Given the description of an element on the screen output the (x, y) to click on. 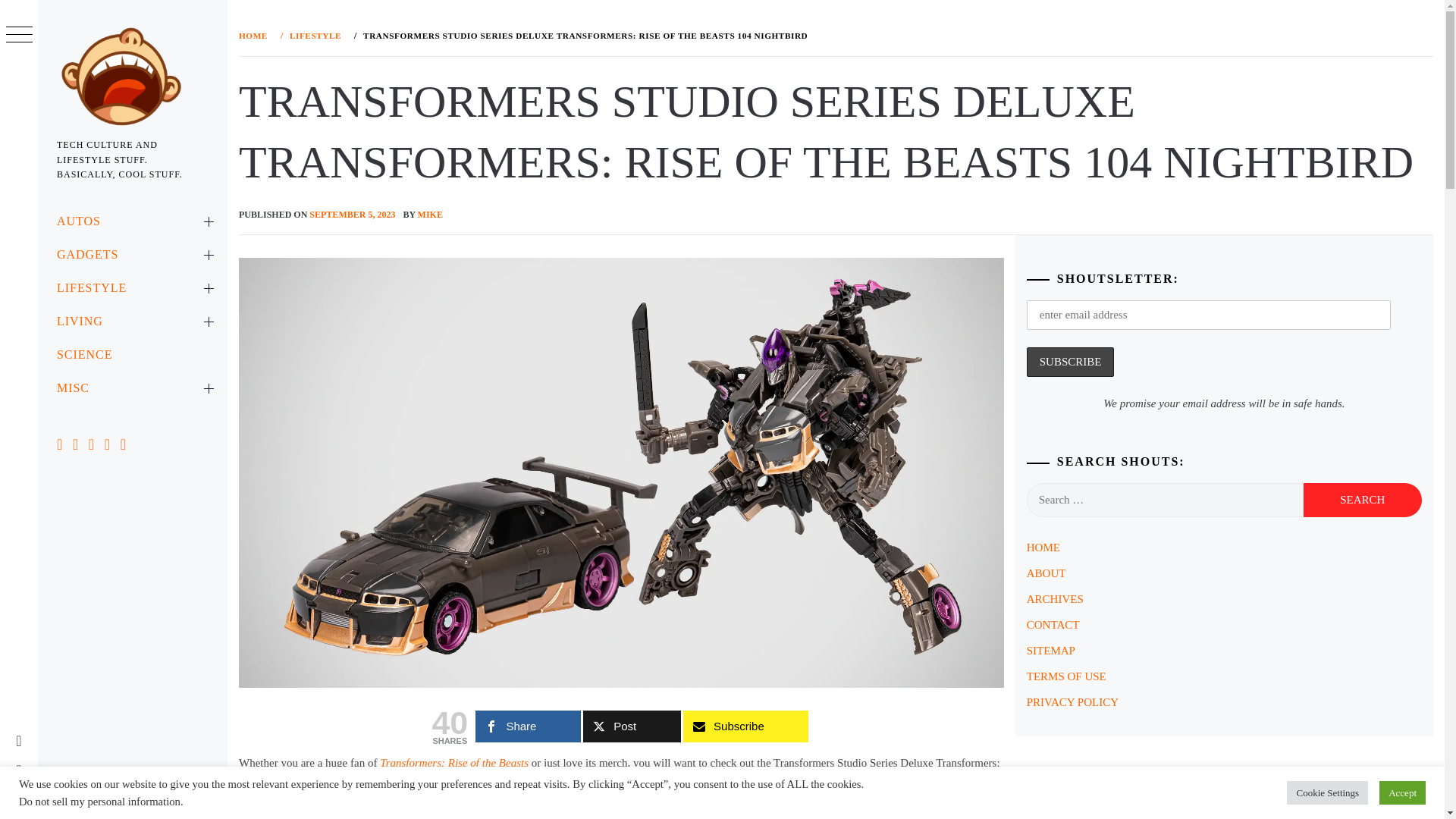
SUBSCRIBE (1070, 361)
LIVING (132, 321)
AUTOS (132, 221)
Search (1362, 499)
MISC (132, 387)
SCIENCE (132, 354)
Search (1362, 499)
LIFESTYLE (132, 287)
GADGETS (132, 254)
